Given the description of an element on the screen output the (x, y) to click on. 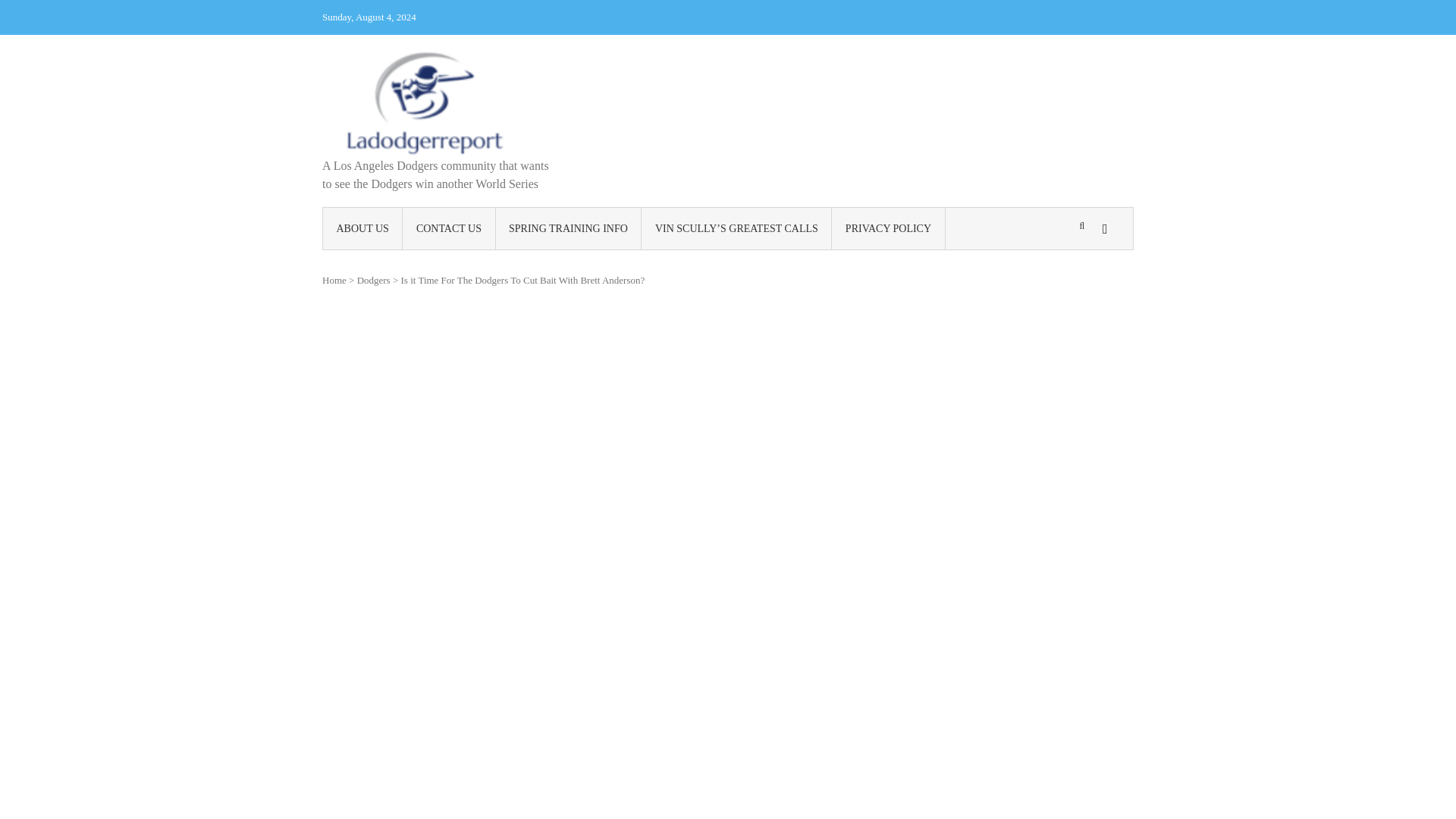
CONTACT US (449, 228)
Search (941, 335)
Home (333, 279)
PRIVACY POLICY (887, 228)
SPRING TRAINING INFO (569, 228)
ABOUT US (363, 228)
Dodgers (373, 279)
